Given the description of an element on the screen output the (x, y) to click on. 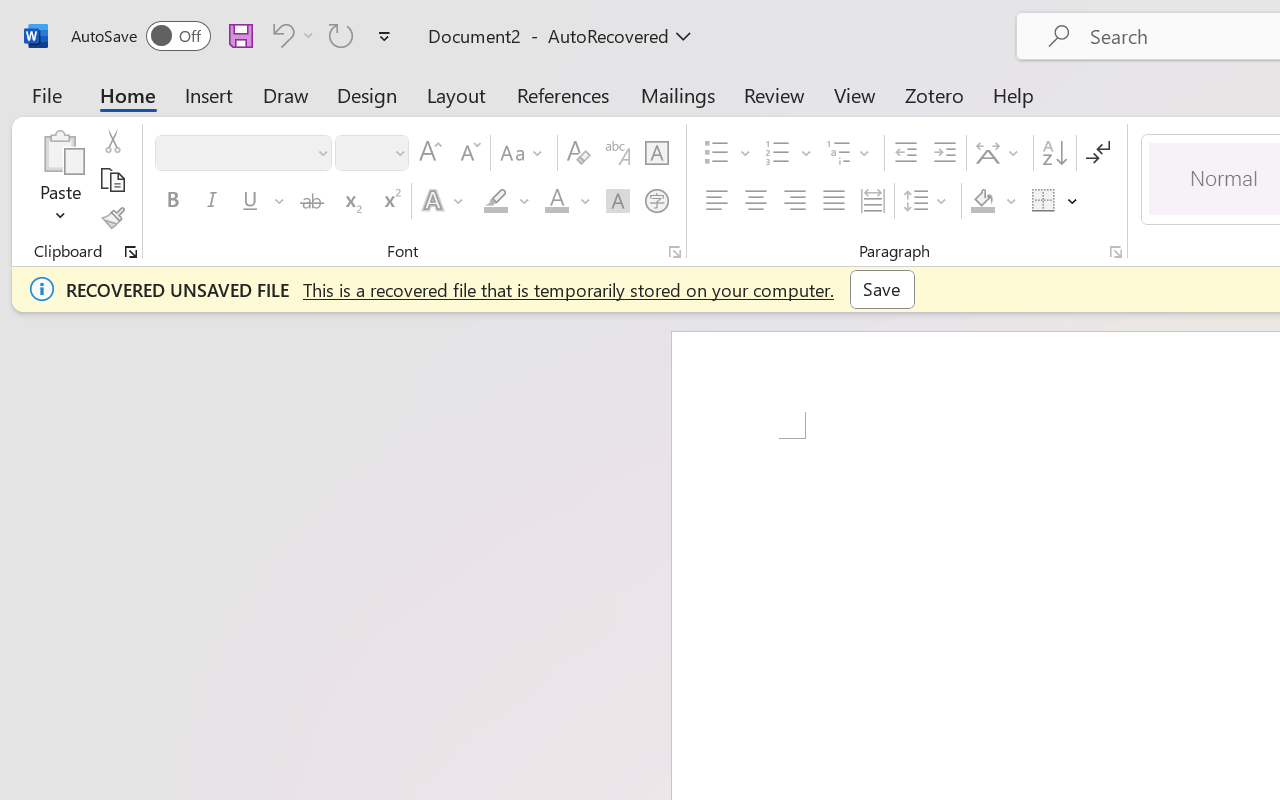
Shading (993, 201)
